Given the description of an element on the screen output the (x, y) to click on. 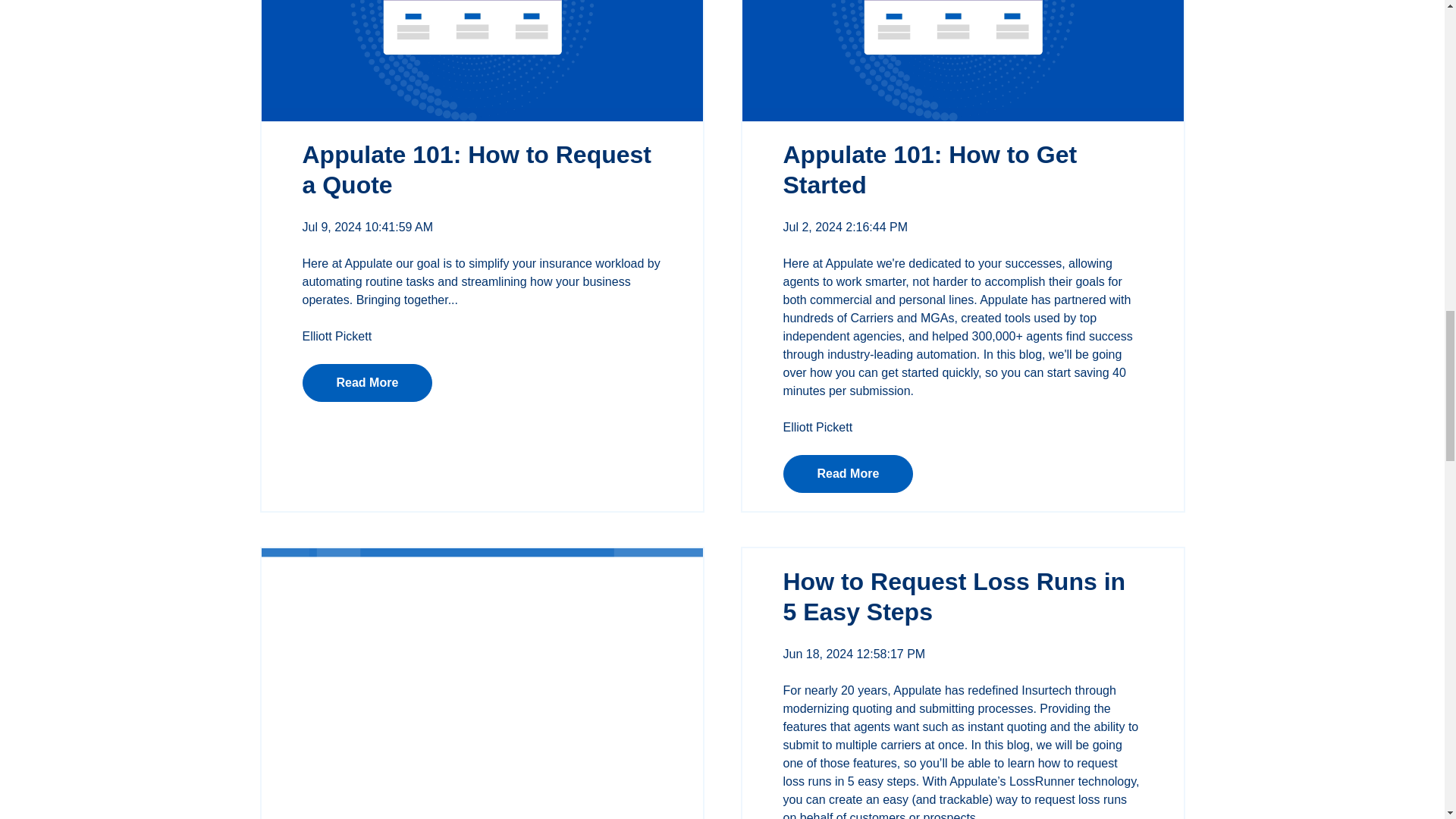
How to Request Loss Runs in 5 Easy Steps (954, 596)
Read More (366, 382)
Appulate 101: How to Request a Quote (475, 169)
Appulate 101: How to Get Started (930, 169)
Read More (847, 474)
Elliott Pickett (817, 427)
Elliott Pickett (336, 336)
